Given the description of an element on the screen output the (x, y) to click on. 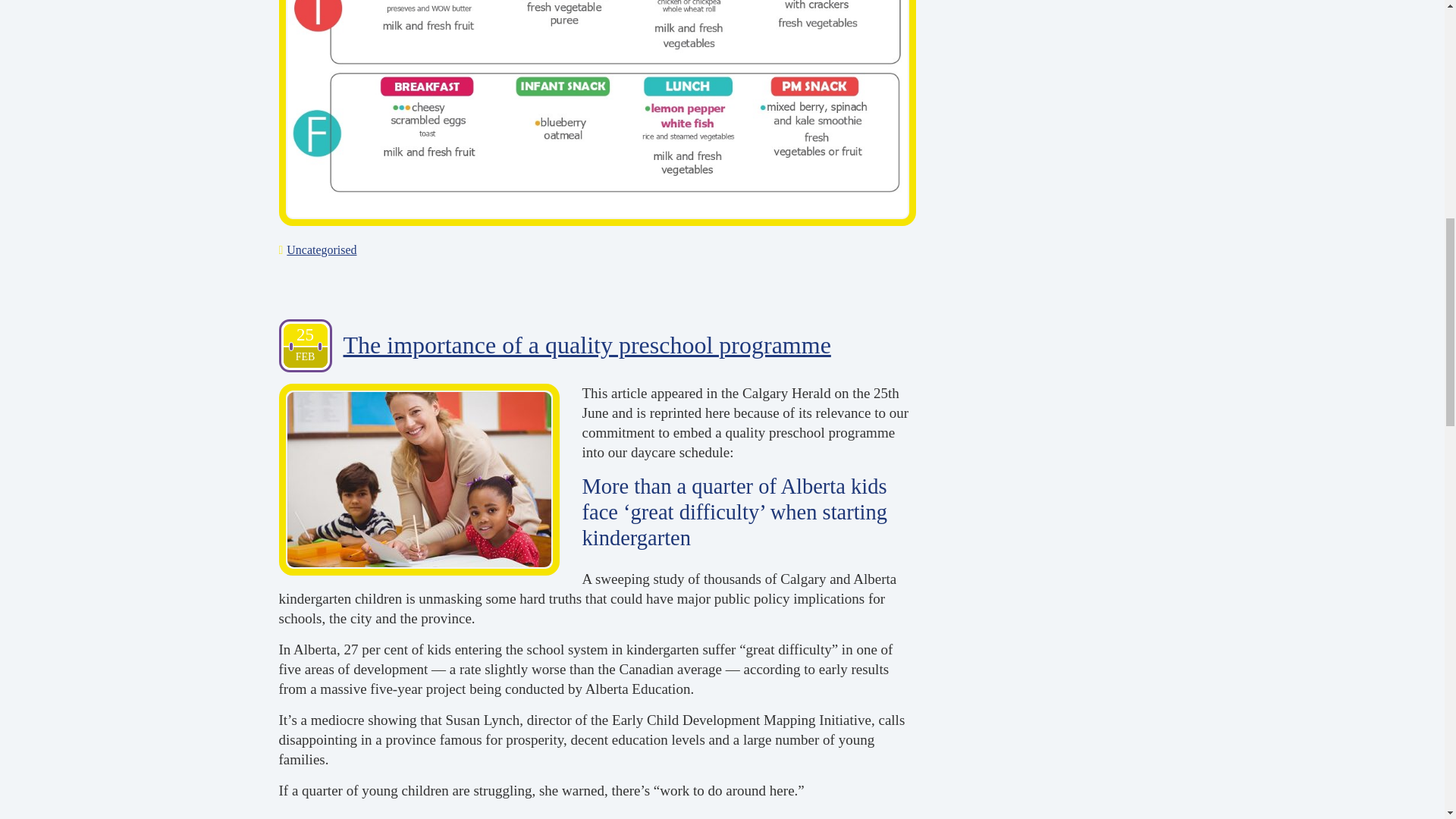
The importance of a quality preschool programme (585, 345)
Feb (305, 356)
Uncategorised (321, 249)
